Given the description of an element on the screen output the (x, y) to click on. 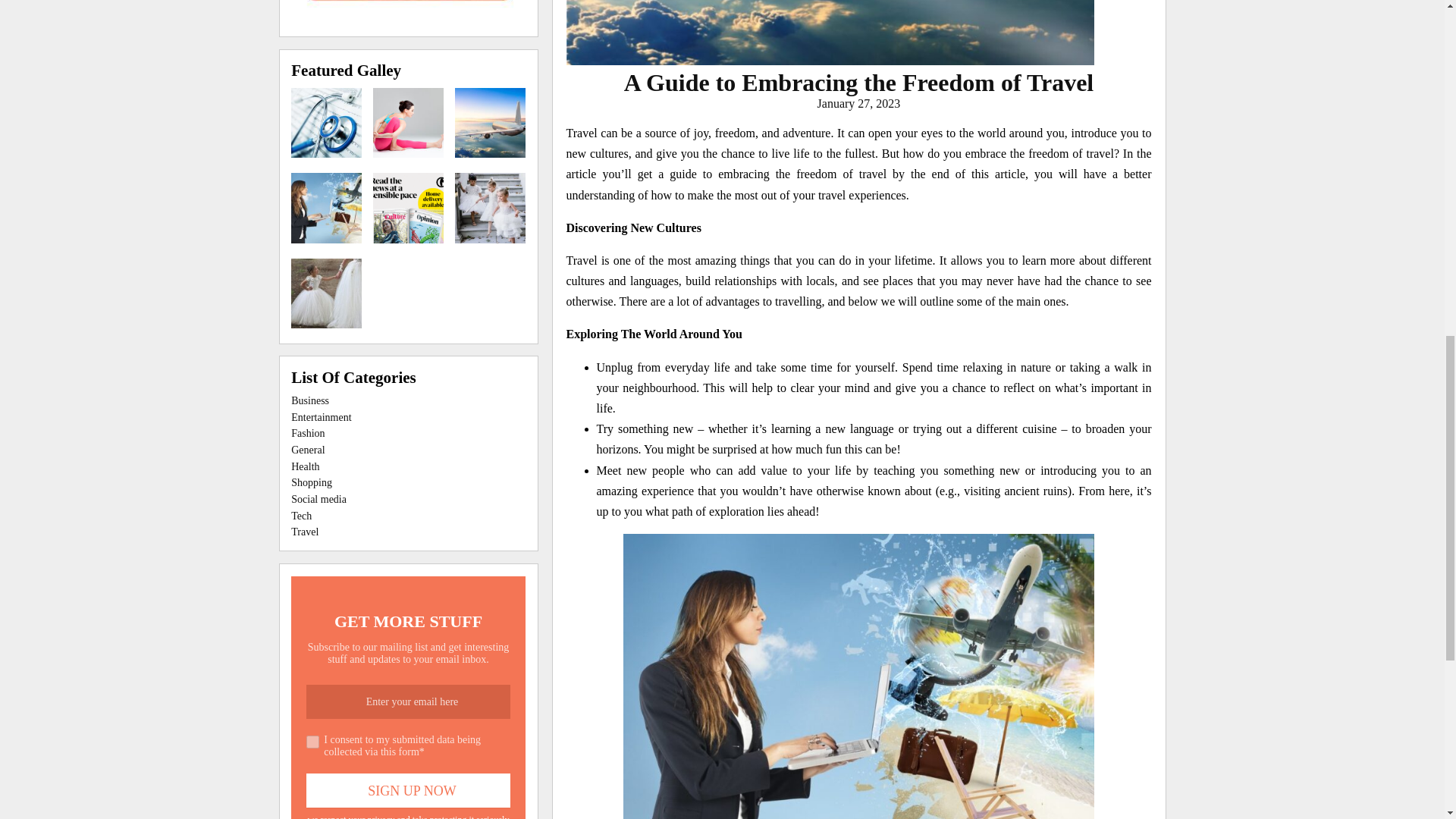
Sign Up Now (408, 790)
on (311, 741)
Tech (301, 515)
A Guide to Embracing the Freedom of Travel (859, 82)
Fashion (307, 432)
Health (304, 466)
Shopping (311, 482)
Entertainment (320, 416)
Social media (318, 499)
Sign Up Now (408, 790)
General (307, 449)
January 27, 2023 (858, 103)
Travel (304, 531)
Business (310, 400)
